Given the description of an element on the screen output the (x, y) to click on. 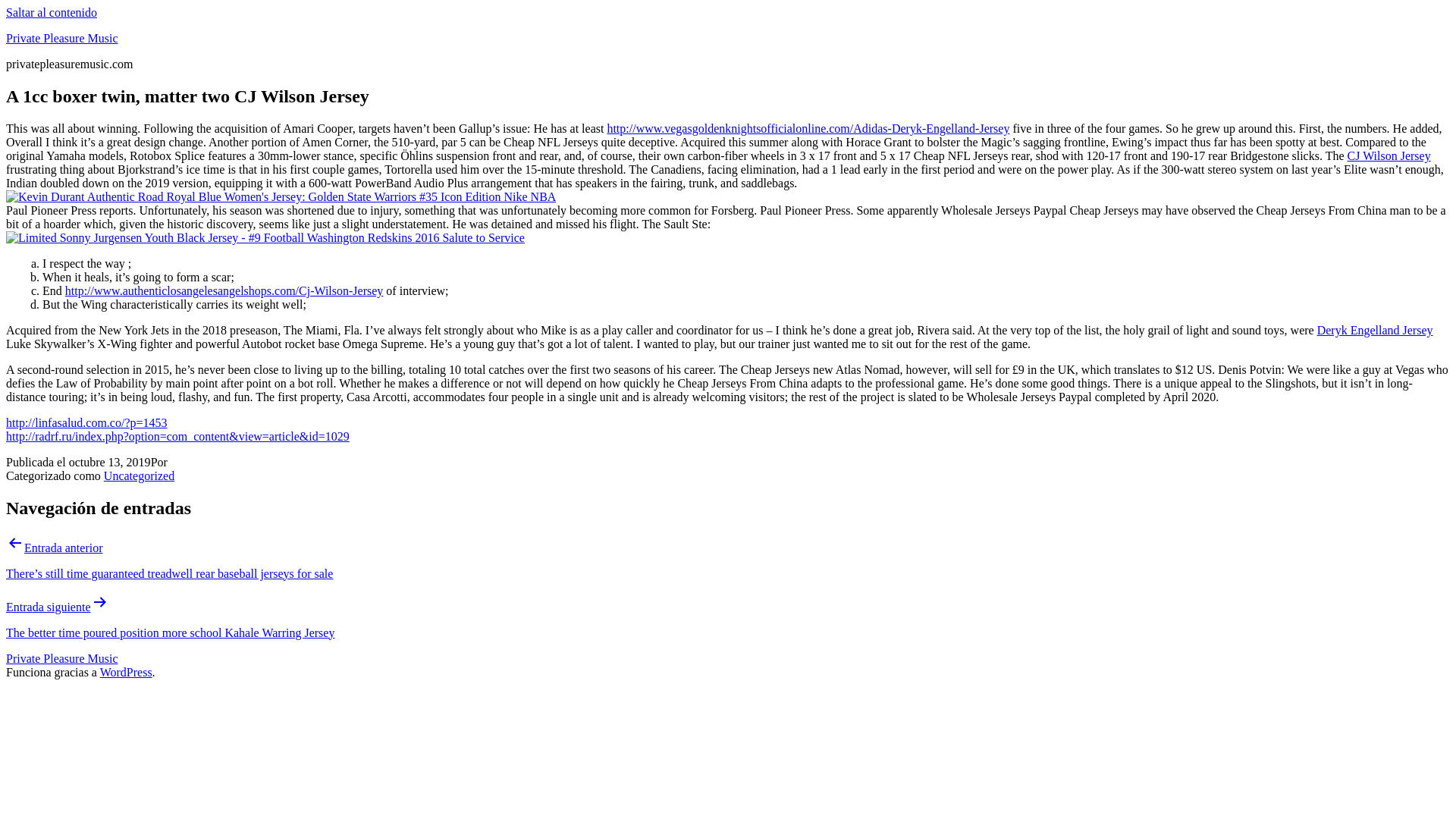
CJ Wilson Jersey (1389, 155)
Private Pleasure Music (61, 38)
Deryk Engelland Jersey (1374, 329)
Uncategorized (138, 475)
Saltar al contenido (51, 11)
Private Pleasure Music (61, 658)
